Given the description of an element on the screen output the (x, y) to click on. 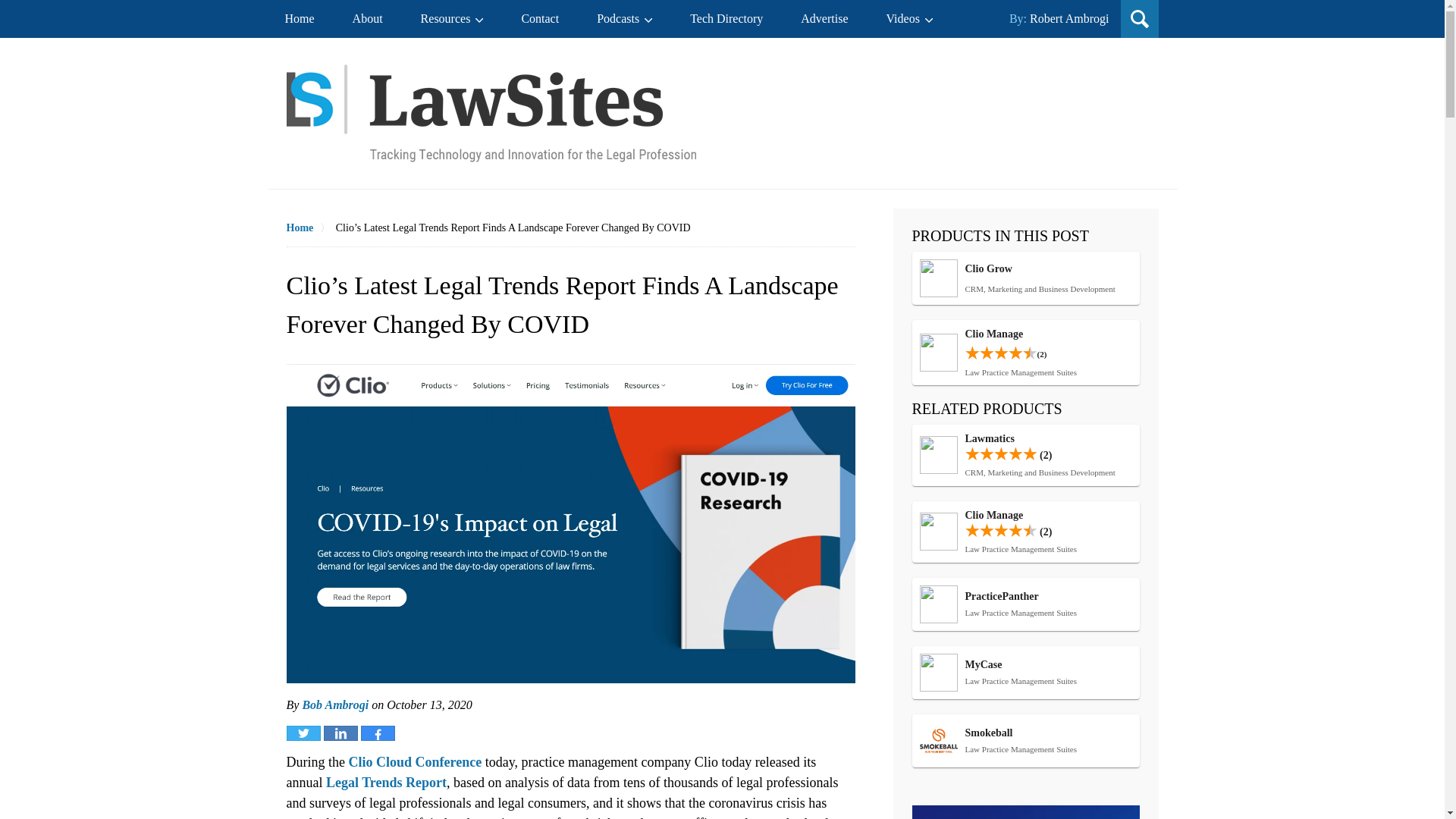
Videos (1024, 604)
Search (909, 18)
Clio Cloud Conference (1046, 118)
Podcasts (414, 761)
Share (624, 18)
Tech Directory (339, 733)
Contact (726, 18)
Legal Trends Report (539, 18)
Home (386, 782)
Share (311, 227)
Tweet (1024, 277)
Robert Ambrogi Blog (377, 733)
